Given the description of an element on the screen output the (x, y) to click on. 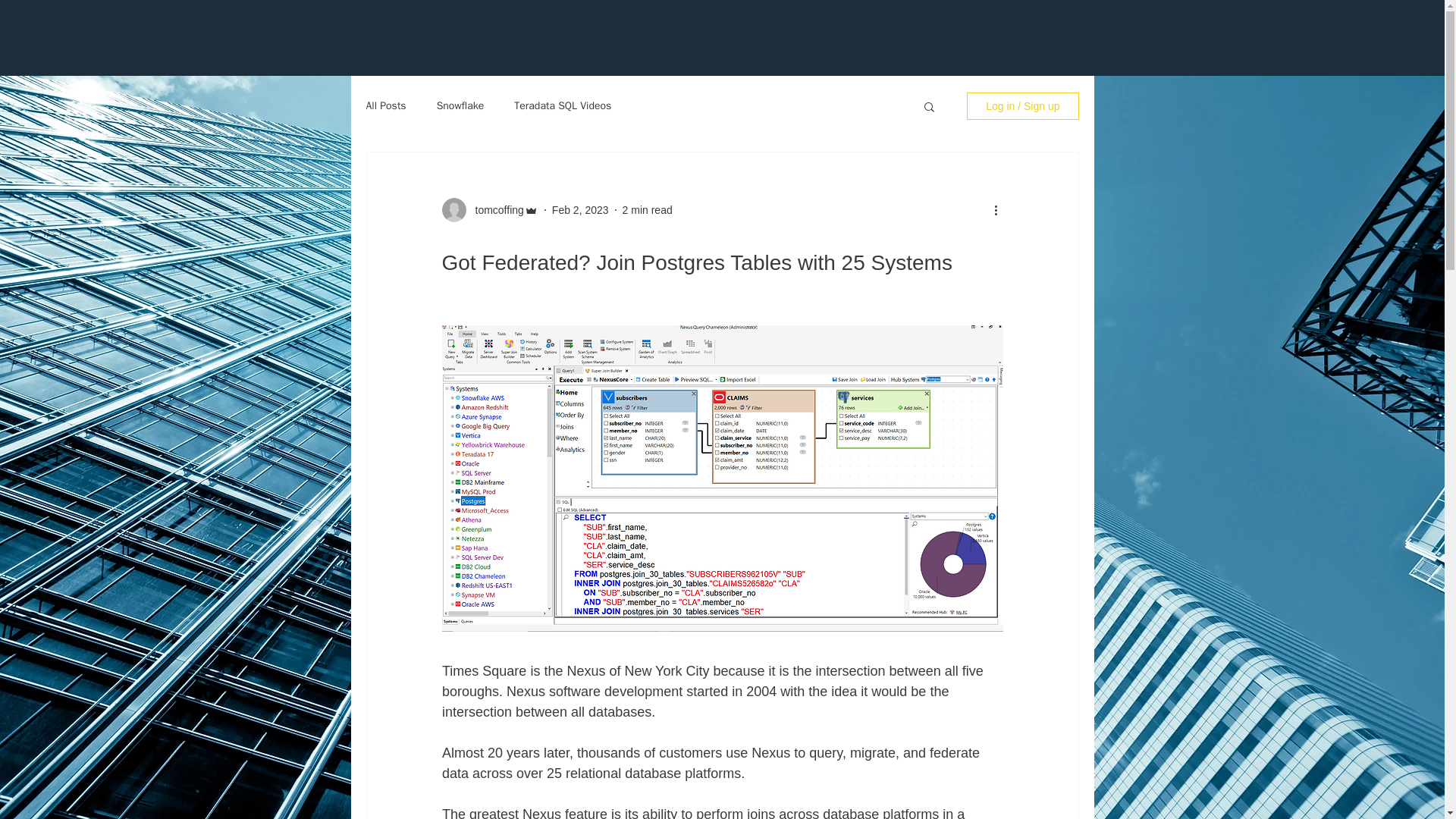
Teradata SQL Videos (562, 106)
2 min read (647, 209)
tomcoffing (493, 209)
All Posts (385, 106)
Feb 2, 2023 (579, 209)
Snowflake (460, 106)
